Given the description of an element on the screen output the (x, y) to click on. 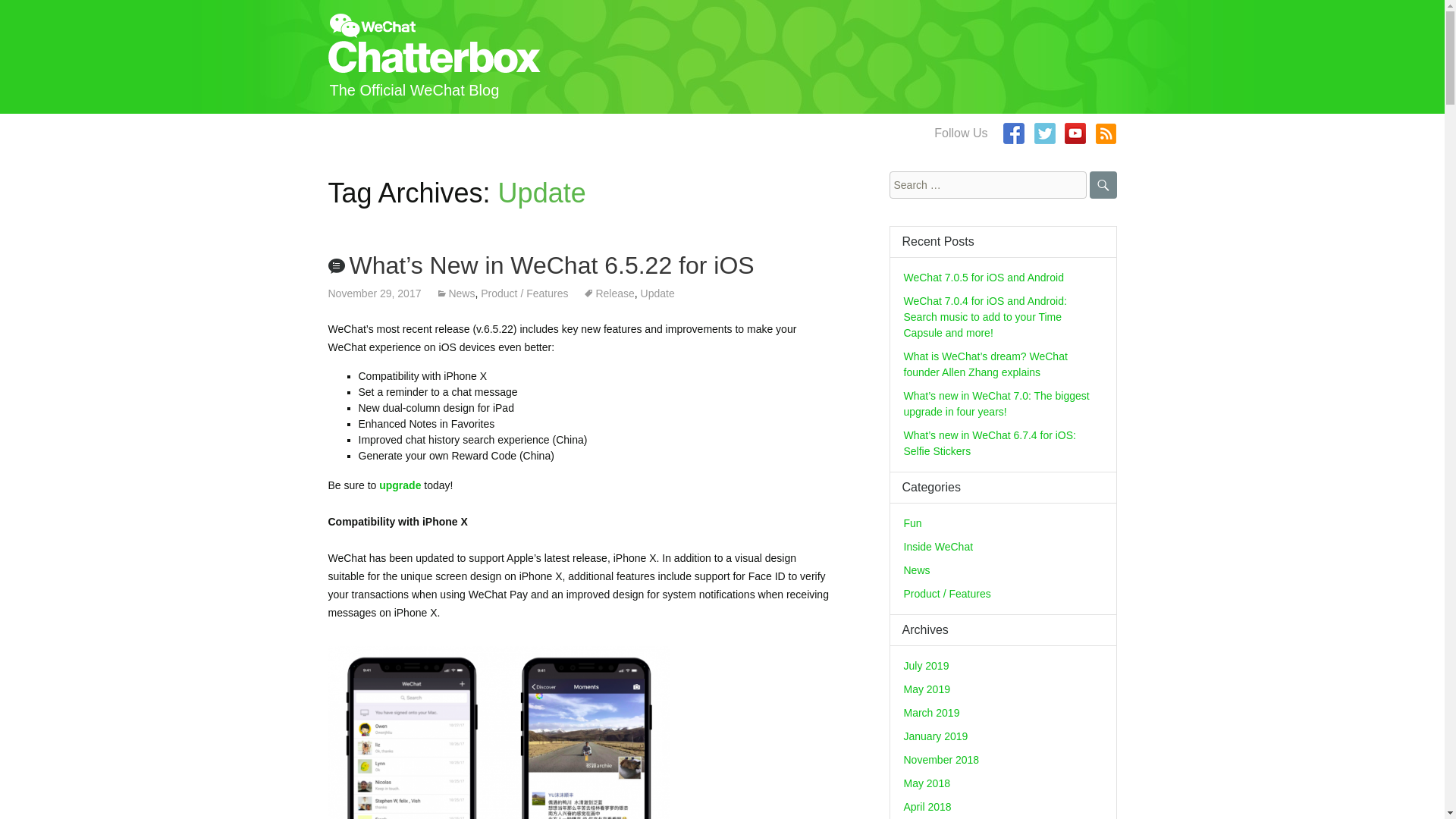
November 29, 2017 (373, 293)
Release (608, 293)
Update (657, 293)
upgrade (399, 485)
News (454, 293)
Twitter (1044, 133)
Facebook (1014, 133)
RSS (1105, 133)
WeChat Blog: Chatterbox (722, 56)
